Given the description of an element on the screen output the (x, y) to click on. 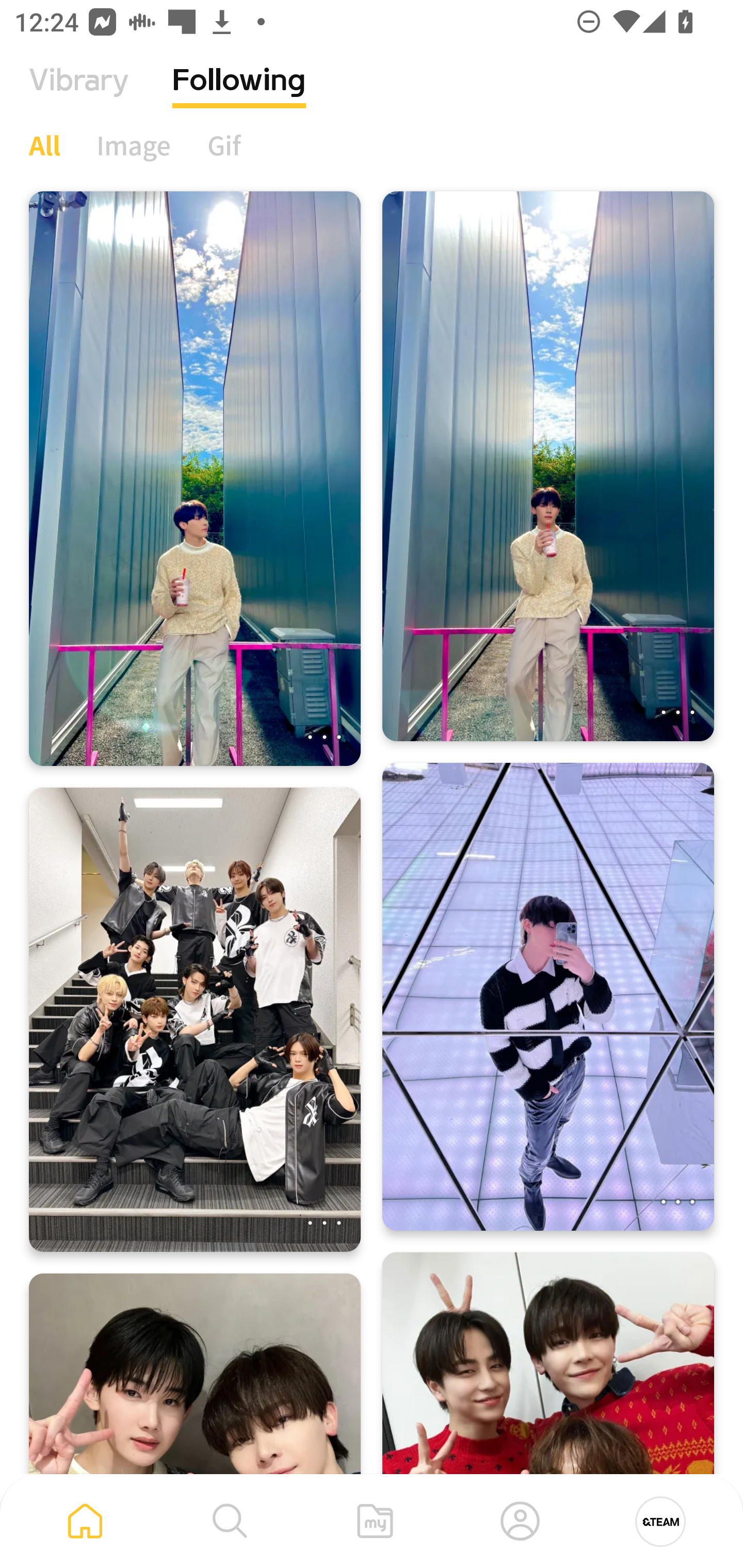
Vibrary (78, 95)
Following (239, 95)
All (44, 145)
Image (133, 145)
Gif (223, 145)
